Given the description of an element on the screen output the (x, y) to click on. 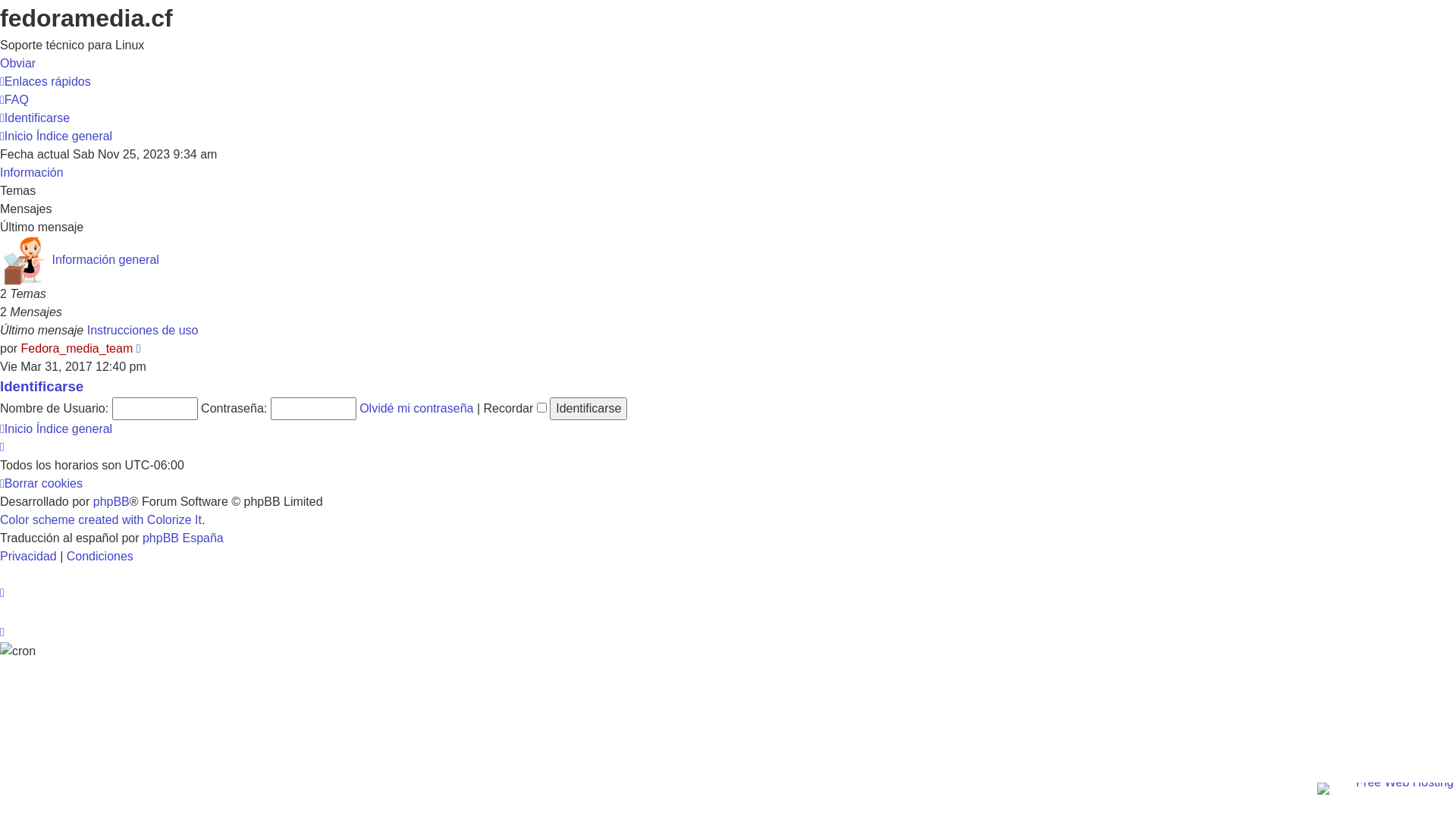
Privacidad Element type: text (29, 555)
Identificarse Element type: text (41, 386)
Color scheme created with Colorize It Element type: text (100, 519)
Obviar Element type: text (17, 62)
Fedora_media_team Element type: text (77, 348)
Condiciones Element type: text (99, 555)
Instrucciones de uso Element type: text (142, 329)
Inicio Element type: text (16, 135)
Identificarse Element type: text (34, 117)
Nombre de Usuario Element type: hover (154, 408)
FAQ Element type: text (14, 99)
Borrar cookies Element type: text (41, 482)
phpBB Element type: text (111, 501)
Identificarse Element type: text (588, 408)
Inicio Element type: text (16, 428)
